Given the description of an element on the screen output the (x, y) to click on. 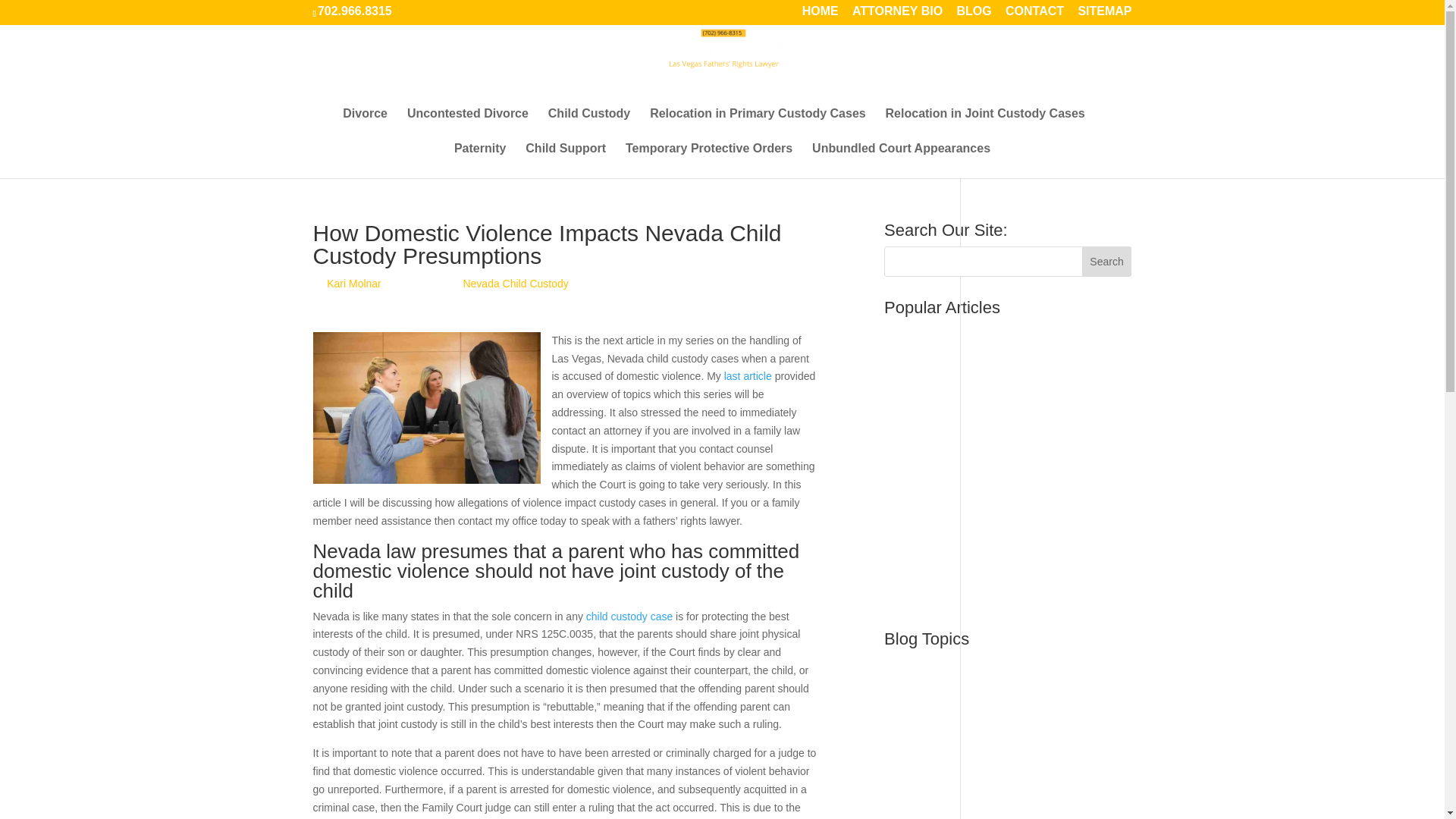
CPS Cases (911, 710)
ATTORNEY BIO (896, 15)
General (902, 756)
Is It Illegal To Smoke Weed Around A Child In Nevada? (989, 465)
Divorce (364, 125)
Paternity (479, 160)
HOME (820, 15)
702.966.8315 (354, 10)
Child Support (565, 160)
Can A Nevada Child Choose Which Parent To Live With? (1002, 423)
